Given the description of an element on the screen output the (x, y) to click on. 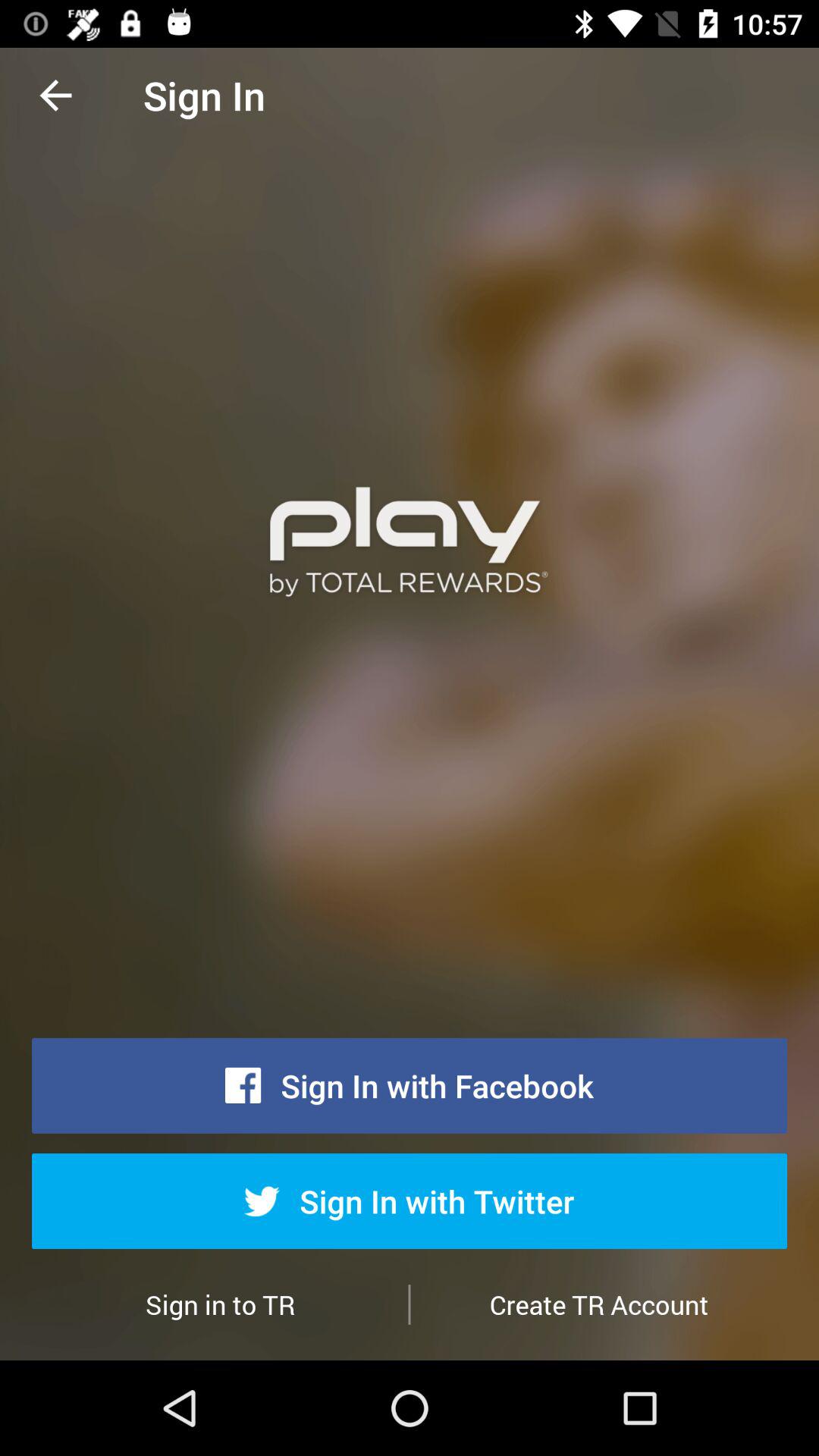
turn off the item next to sign in icon (55, 95)
